Given the description of an element on the screen output the (x, y) to click on. 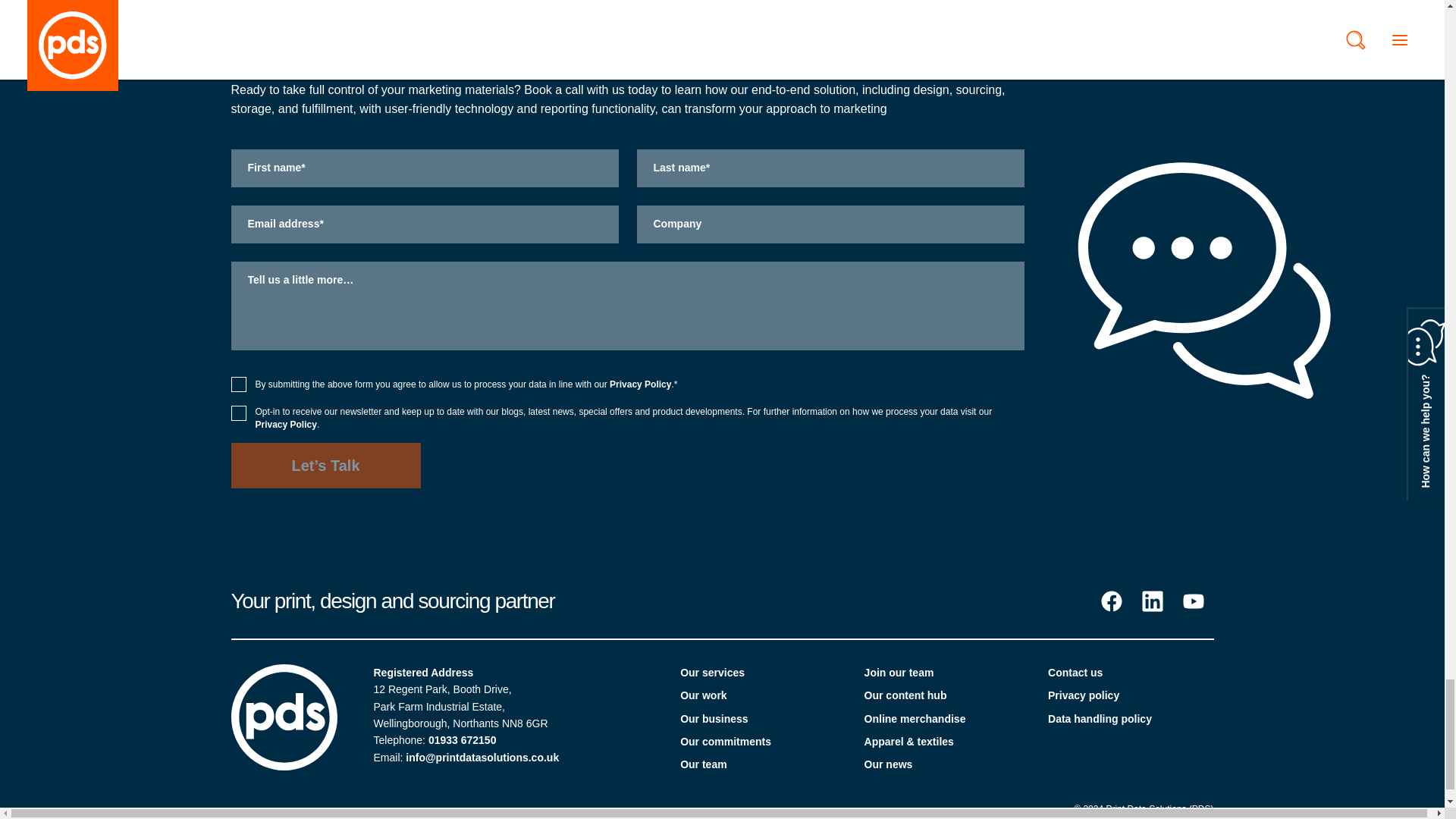
Go to LinkedIn (1151, 600)
Go to Facebook (1110, 600)
Go to YouTube (1192, 600)
Privacy Policy (640, 384)
